Given the description of an element on the screen output the (x, y) to click on. 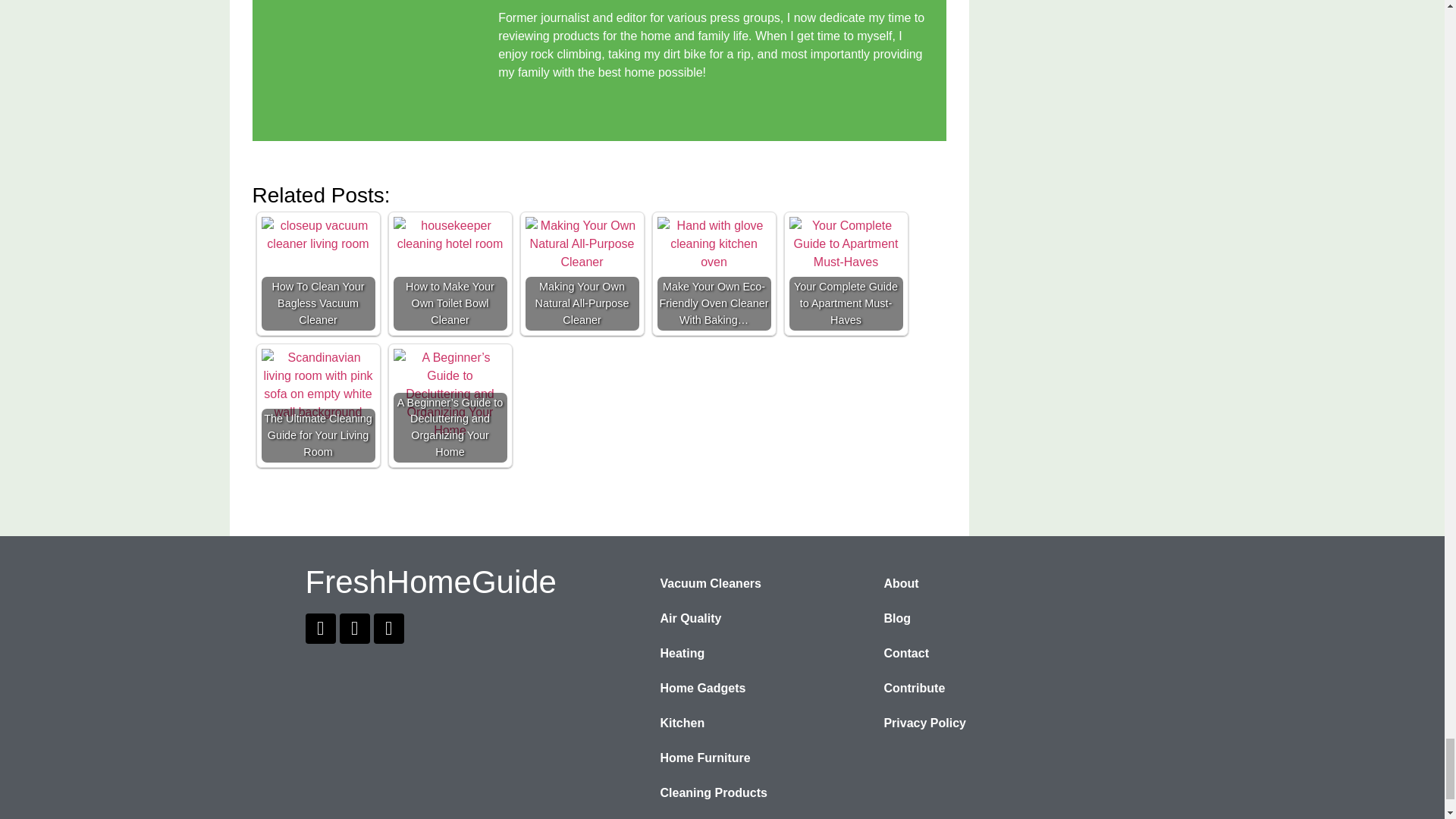
Your Complete Guide to Apartment Must-Haves (845, 244)
A Beginner's Guide to Decluttering and Organizing Your Home (449, 393)
How To Clean Your Bagless Vacuum Cleaner (317, 235)
The Ultimate Cleaning Guide for Your Living Room (317, 384)
Making Your Own Natural All-Purpose Cleaner (581, 244)
How to Make Your Own Toilet Bowl Cleaner (449, 235)
